Given the description of an element on the screen output the (x, y) to click on. 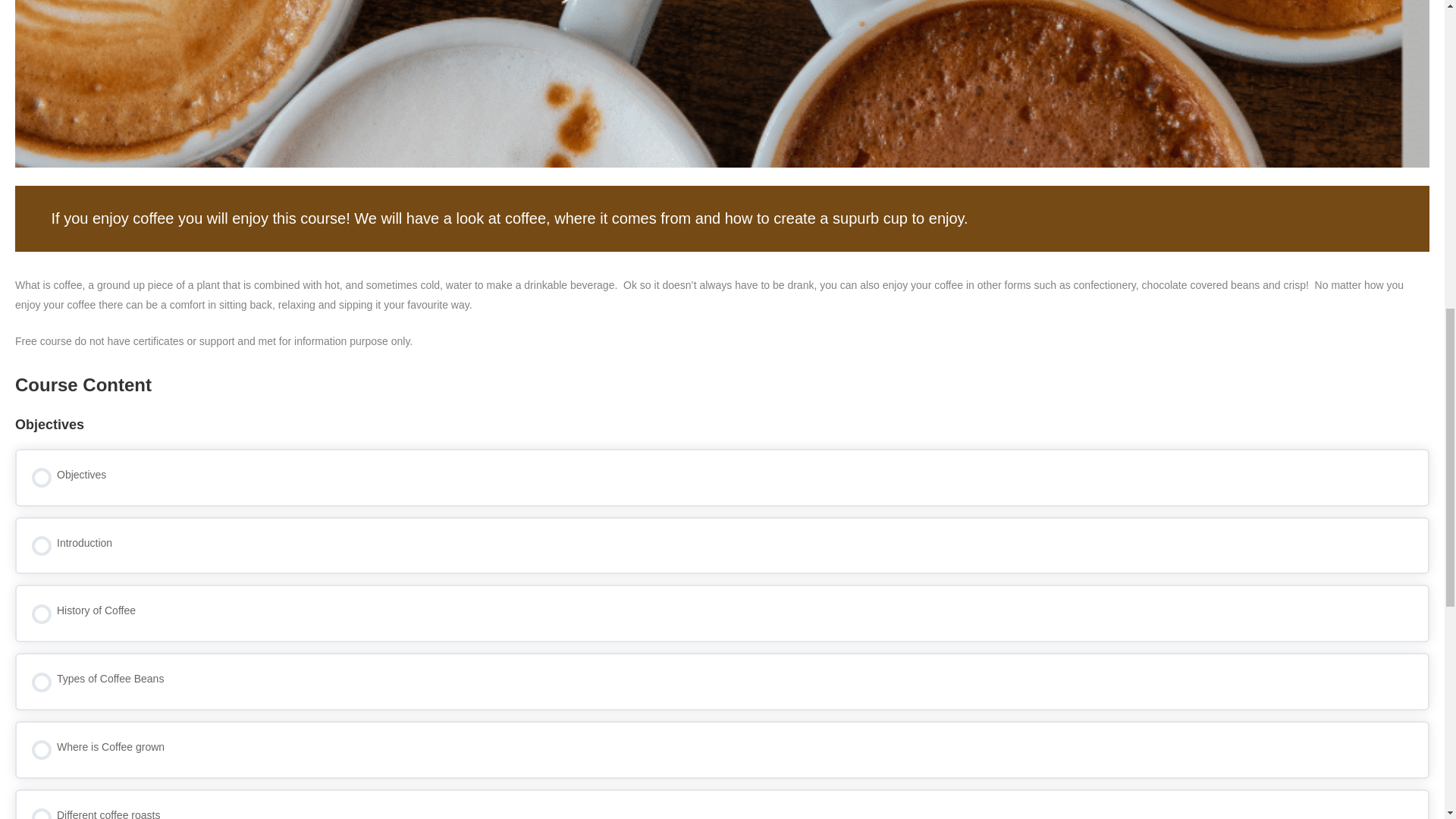
Objectives (722, 477)
Introduction (722, 545)
Where is Coffee grown (722, 749)
Types of Coffee Beans (722, 681)
History of Coffee (722, 613)
